Given the description of an element on the screen output the (x, y) to click on. 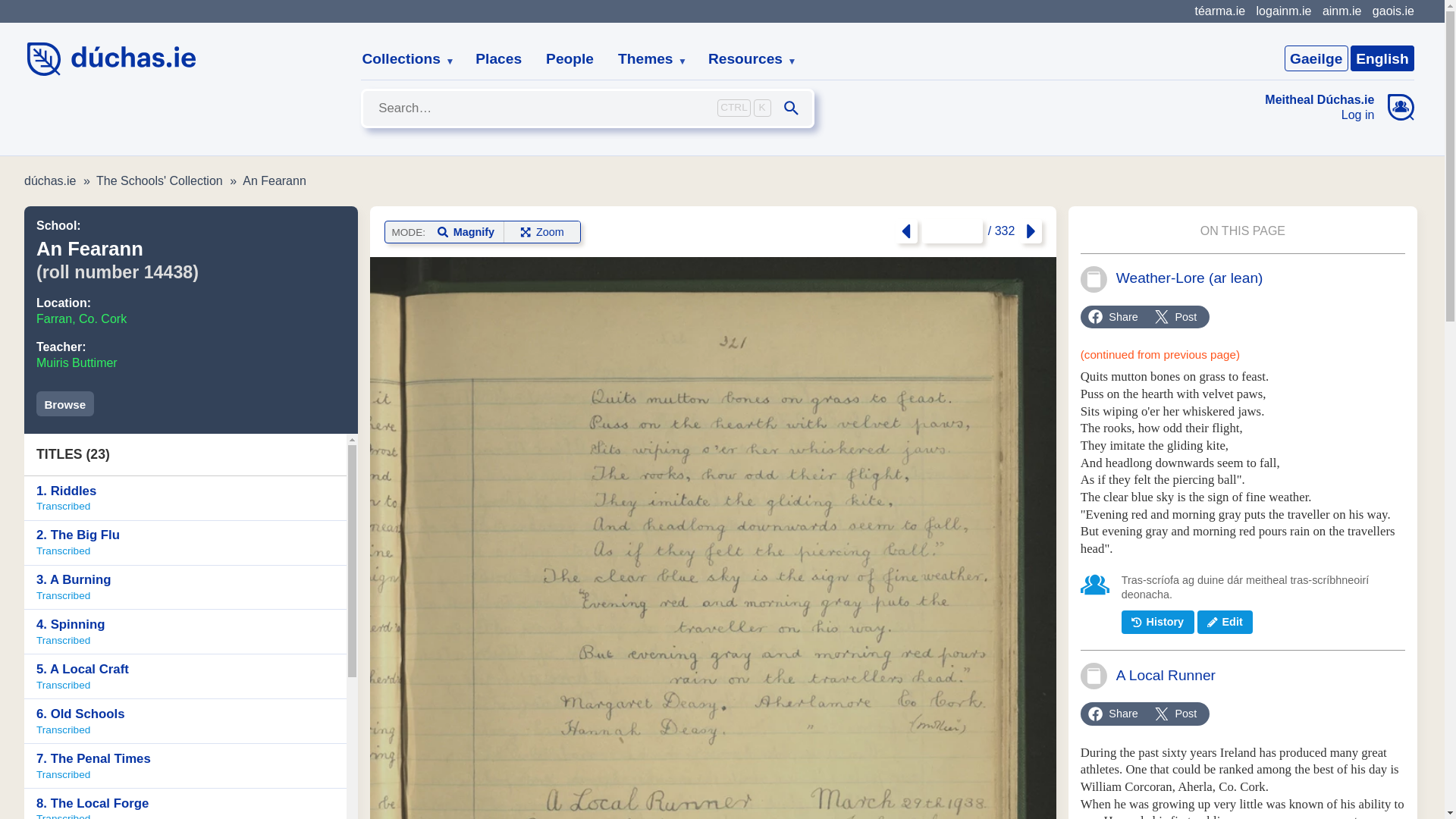
Resources (745, 59)
gaois.ie (185, 497)
Themes (1393, 11)
Muiris Buttimer (185, 542)
People (646, 59)
Gaeilge (76, 362)
Places (569, 58)
Log in (1316, 58)
An Fearann (498, 58)
The Schools' Collection (1319, 114)
Farran, Co. Cork (274, 180)
Browse (159, 180)
English (81, 318)
